Given the description of an element on the screen output the (x, y) to click on. 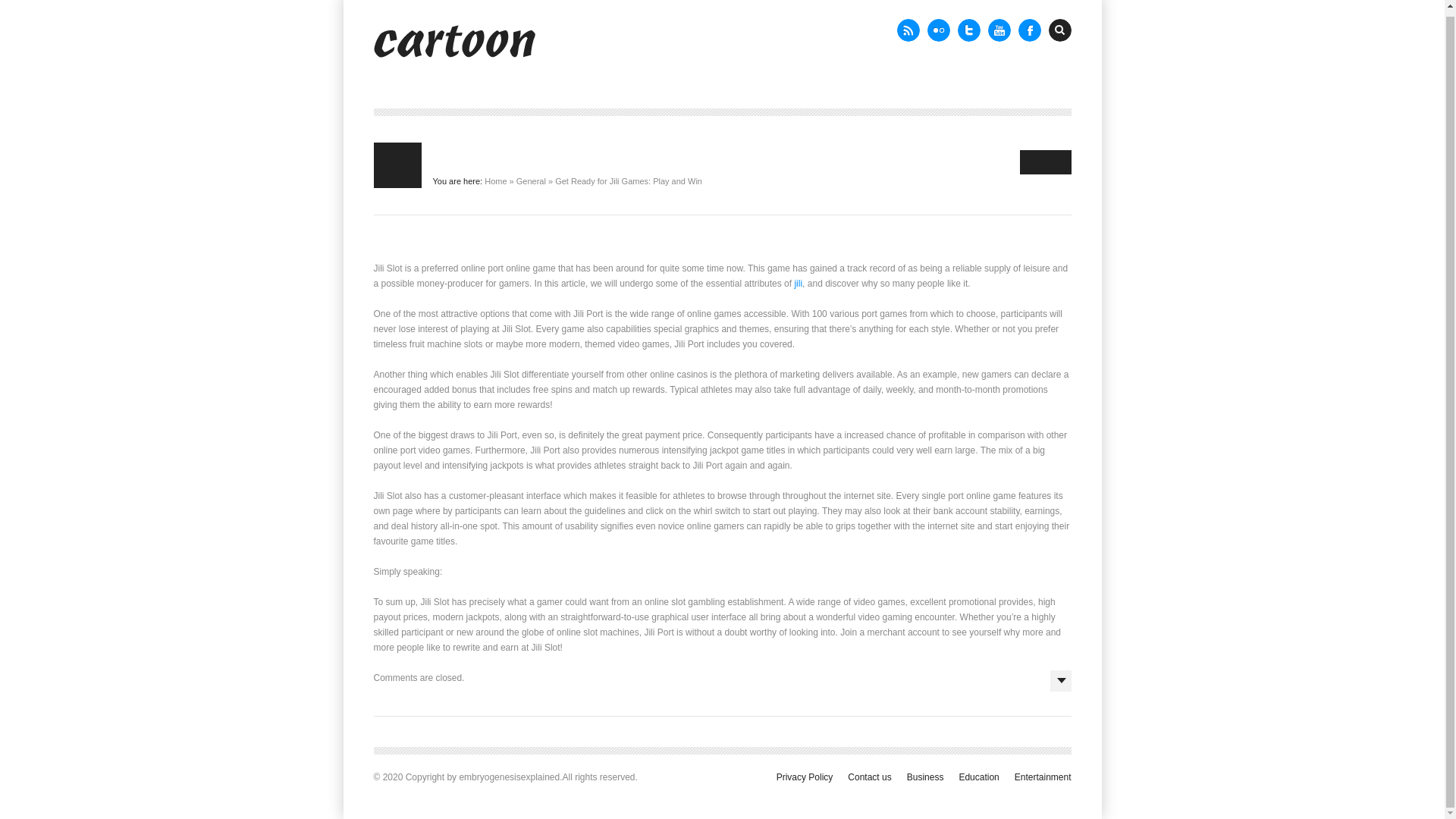
Flickr (937, 29)
Education (978, 777)
General (531, 180)
Whatch us on Youtube. (998, 29)
Drag to Share (1044, 161)
Entertainment (1042, 777)
Follow us on Twitter (967, 29)
Privacy Policy (804, 777)
Business (925, 777)
Get the lastest news. (907, 29)
Contact us (869, 777)
Facebook (1029, 29)
Home (495, 180)
